Given the description of an element on the screen output the (x, y) to click on. 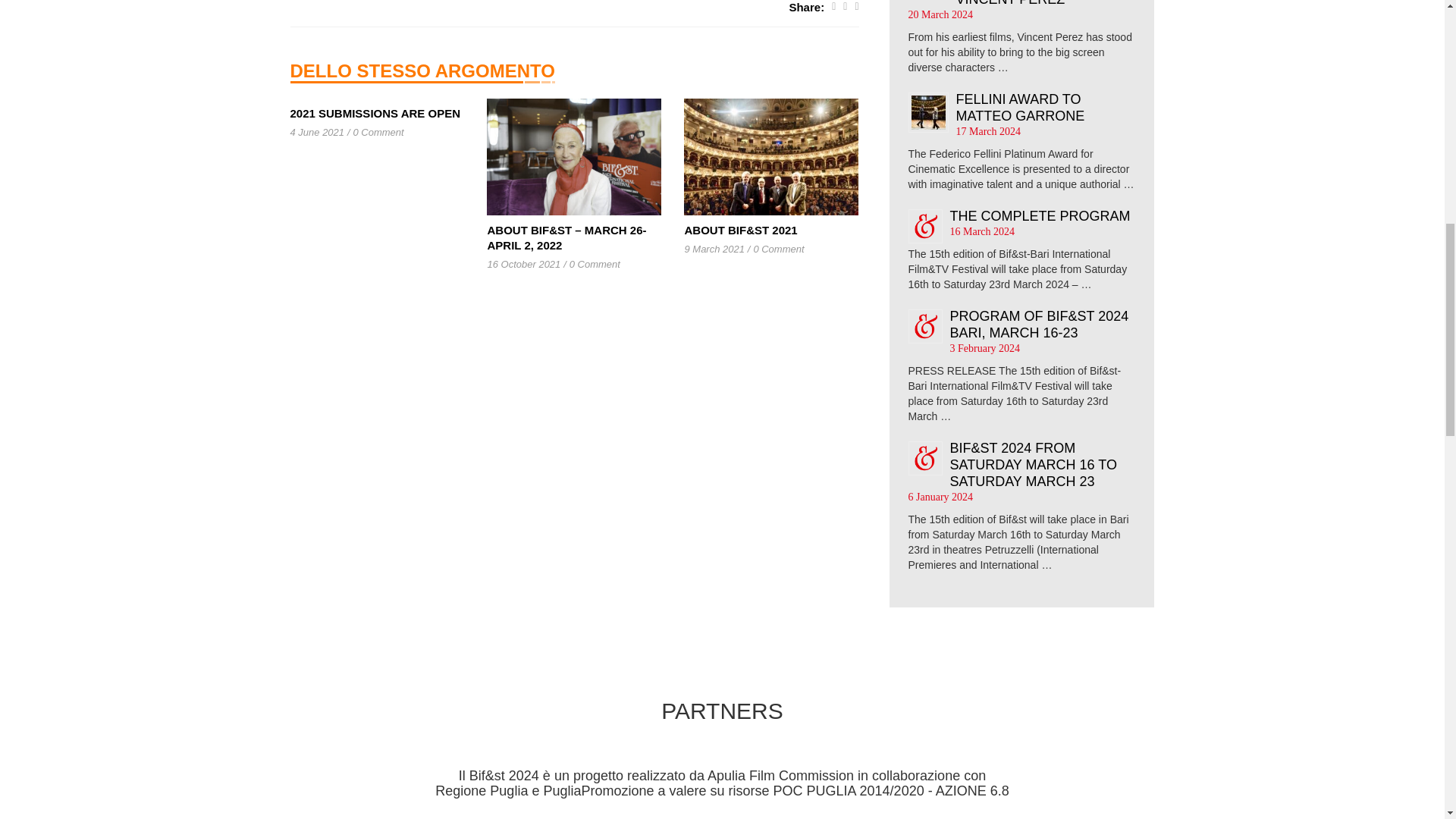
Permalink to The complete program (1039, 215)
Permalink to Fellini Award to Matteo Garrone (1019, 107)
